Given the description of an element on the screen output the (x, y) to click on. 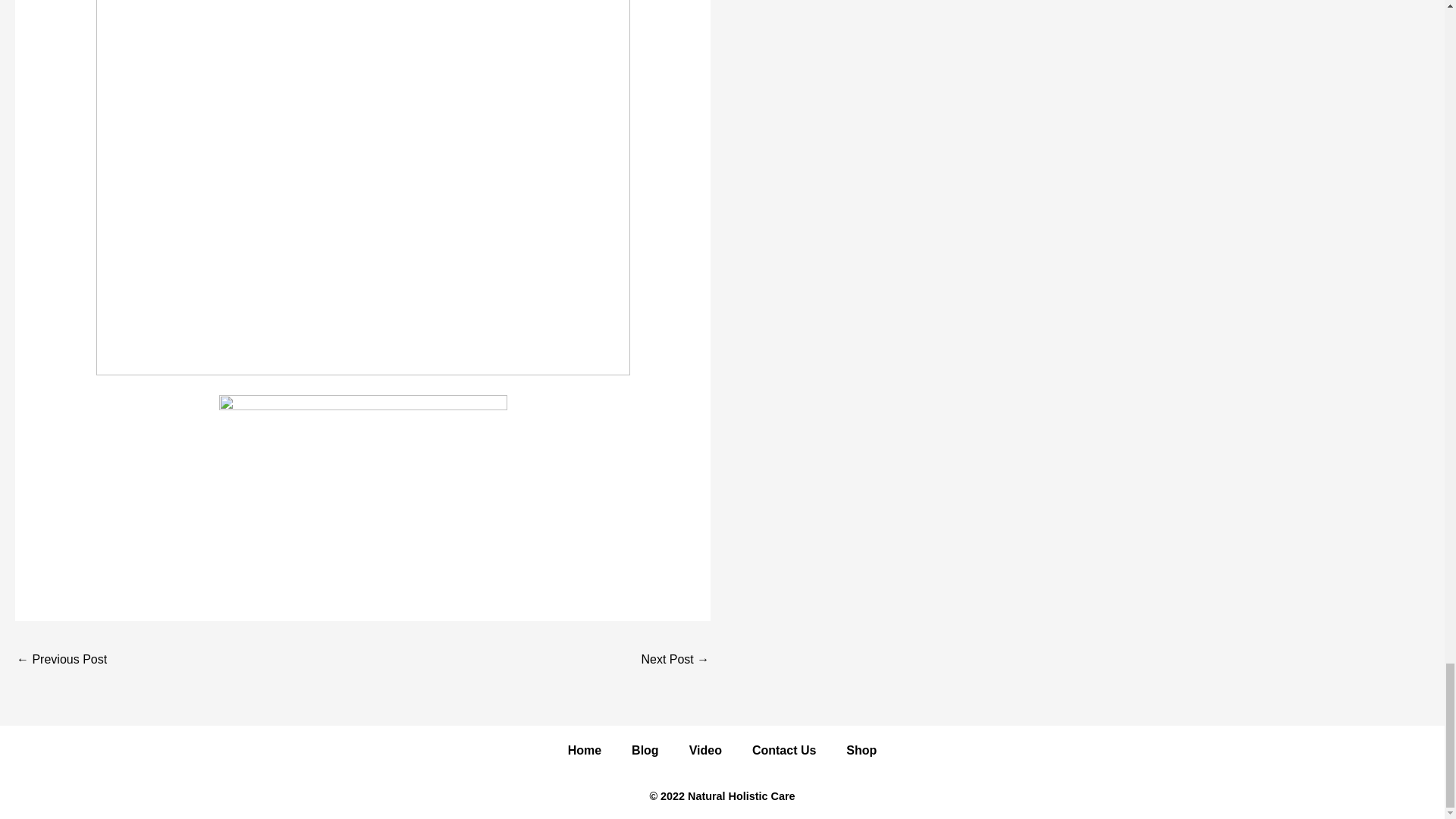
Tea Tree Oil Wonders (674, 660)
Home (584, 750)
Video (705, 750)
Shop (861, 750)
Blog (644, 750)
5 Ways to Soothe Mind, Body and Spirit (61, 660)
Contact Us (783, 750)
